Given the description of an element on the screen output the (x, y) to click on. 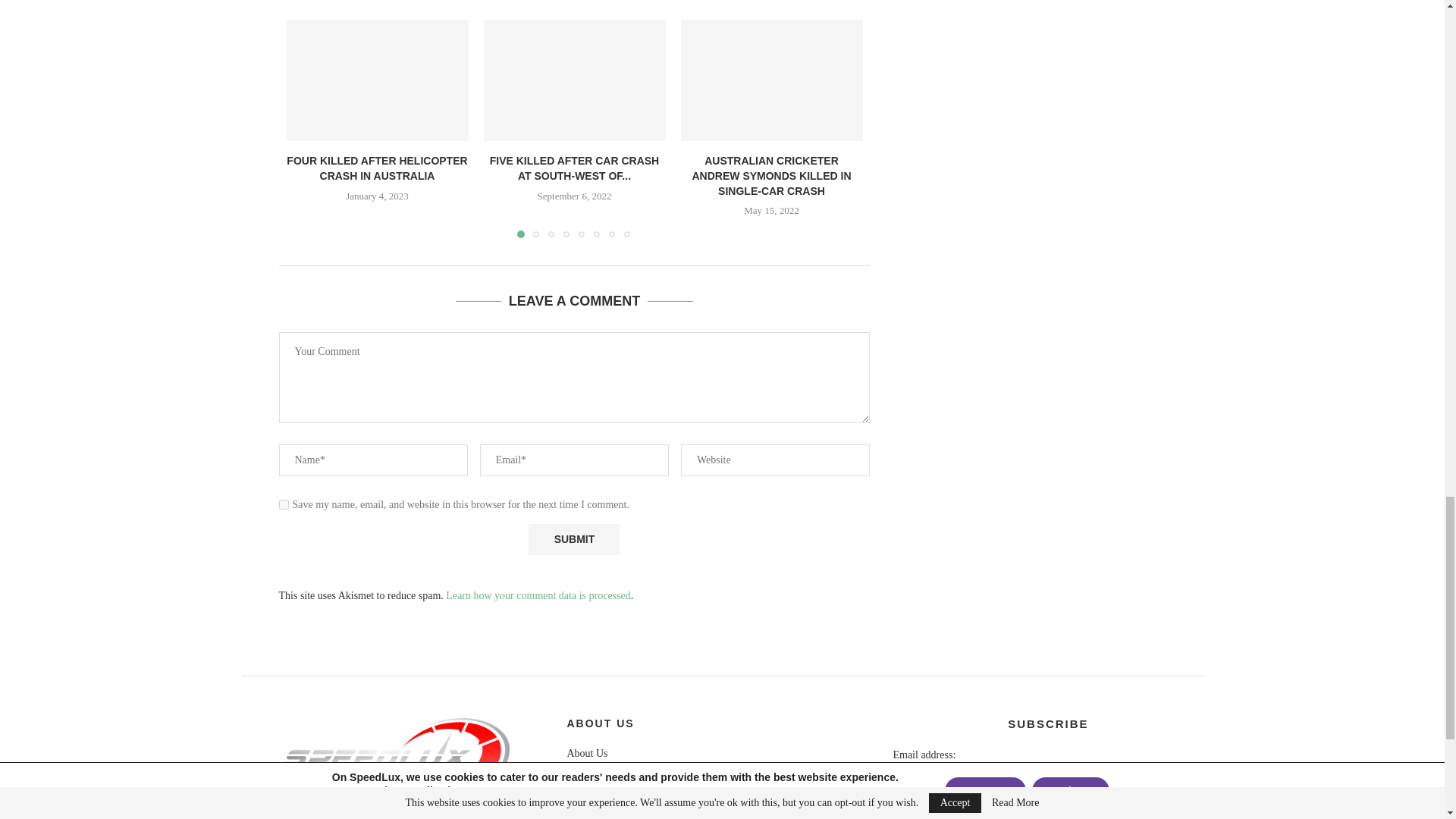
FIVE KILLED AFTER CAR CRASH AT SOUTH-WEST OF... (574, 167)
Four killed after helicopter crash in Australia (377, 79)
Submit (574, 539)
yes (283, 504)
FOUR KILLED AFTER HELICOPTER CRASH IN AUSTRALIA (376, 167)
Five killed after car crash at south-west of Sydney (574, 79)
